Given the description of an element on the screen output the (x, y) to click on. 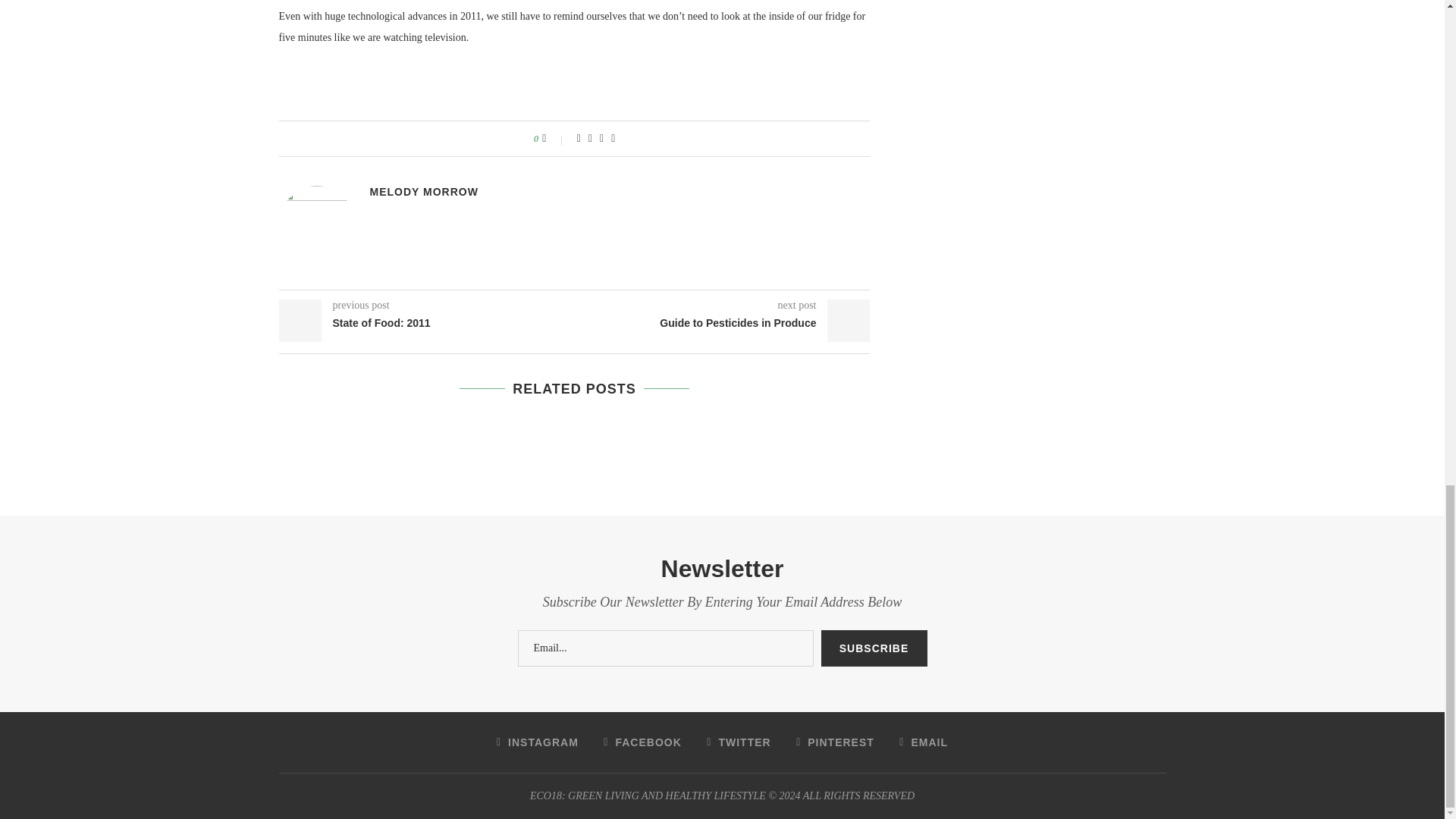
Like (553, 138)
Posts by Melody Morrow (424, 191)
Subscribe (873, 647)
